Given the description of an element on the screen output the (x, y) to click on. 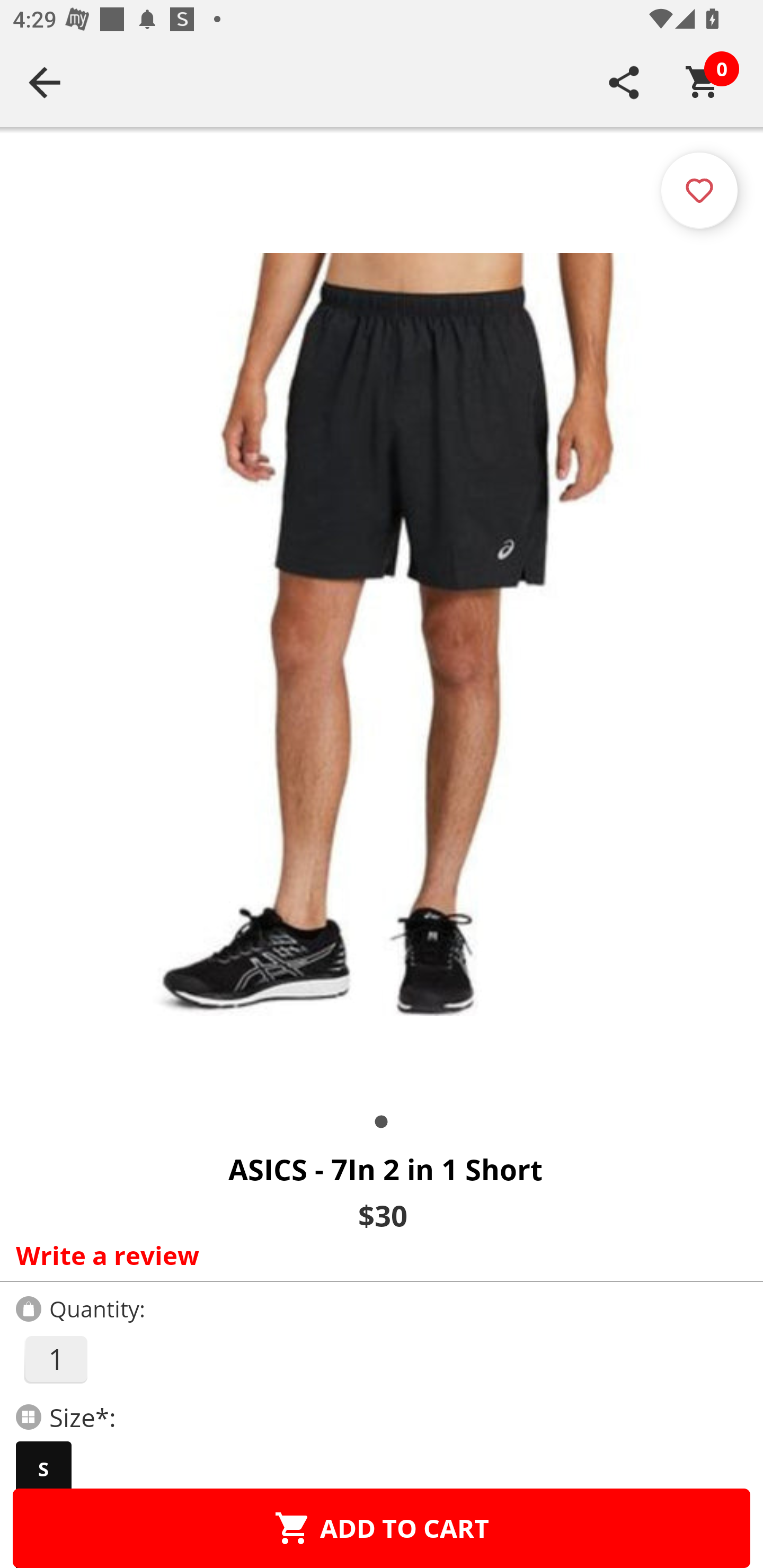
Navigate up (44, 82)
SHARE (623, 82)
Cart (703, 81)
Write a review (377, 1255)
1 (55, 1358)
S (43, 1468)
ADD TO CART (381, 1528)
